Given the description of an element on the screen output the (x, y) to click on. 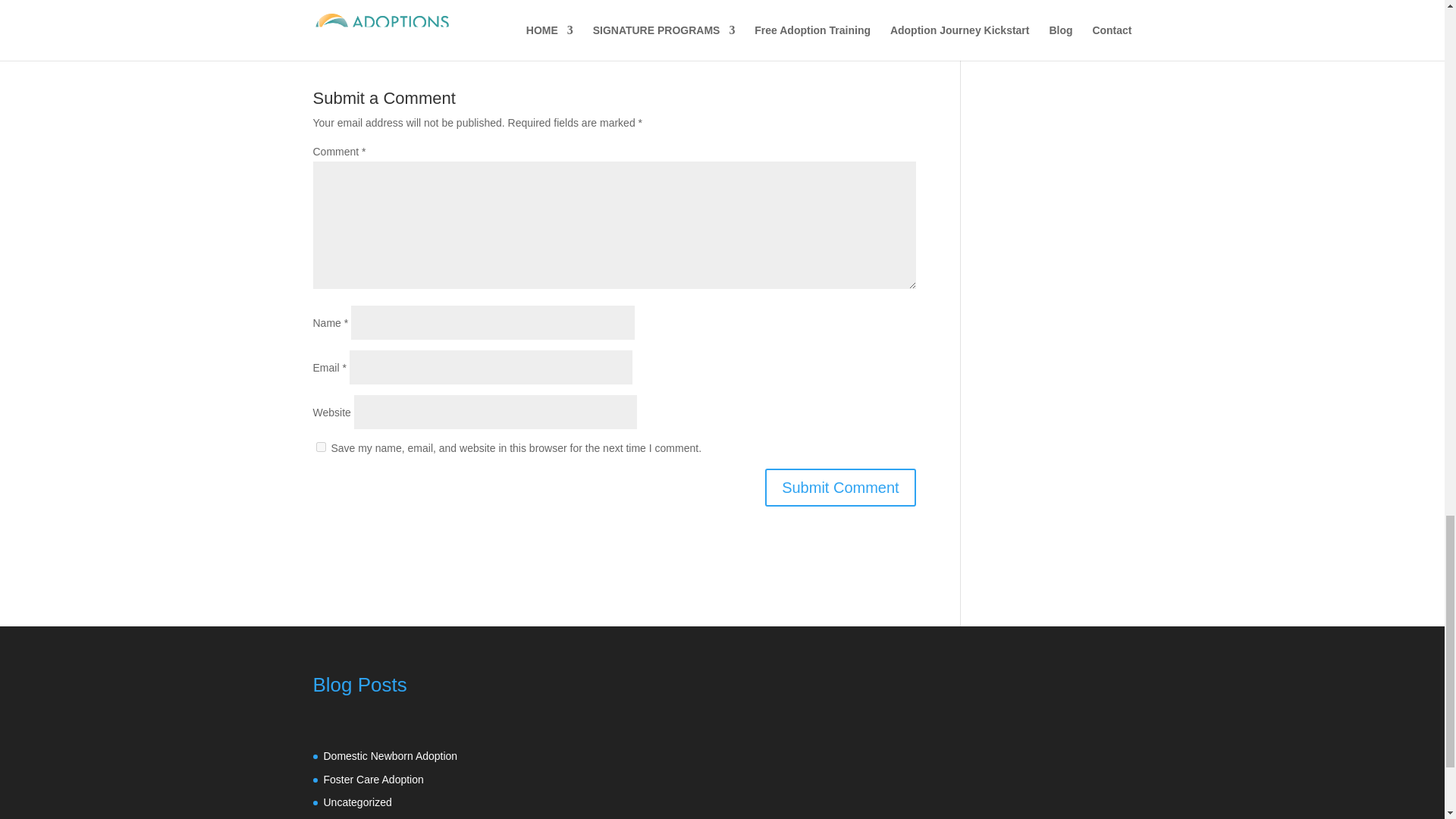
Foster Care Adoption (373, 779)
yes (319, 447)
Submit Comment (840, 487)
Uncategorized (357, 802)
Submit Comment (840, 487)
Domestic Newborn Adoption (390, 756)
